Given the description of an element on the screen output the (x, y) to click on. 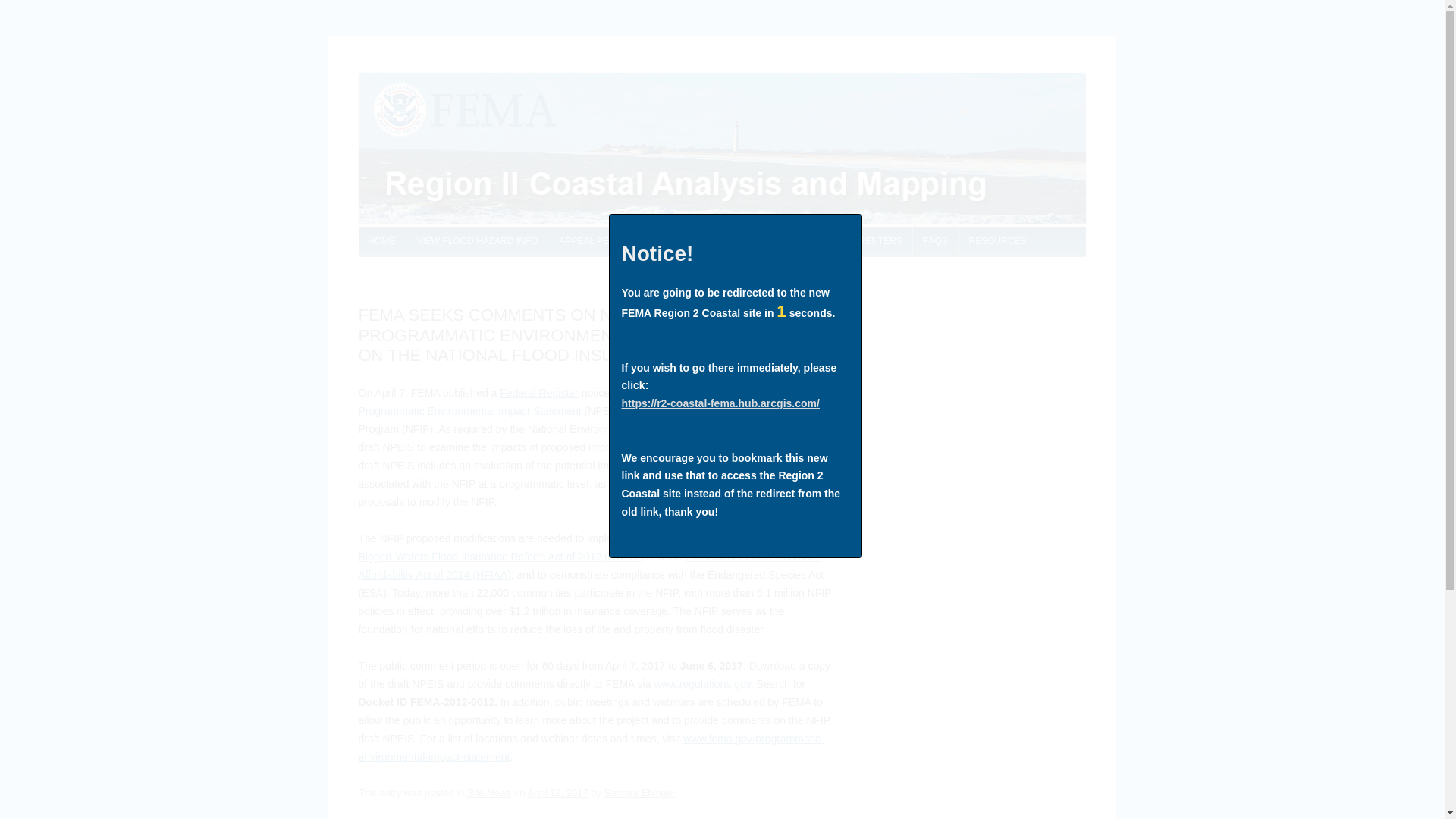
Skip to content (757, 231)
HOME (381, 241)
VIEW FLOOD HAZARD INFO (476, 241)
CONTACTS (392, 272)
Skip to content (757, 231)
Nationwide Programmatic Environmental Impact Statement (592, 401)
RESOURCES (997, 241)
Federal Register (538, 392)
APPEAL PERIOD (595, 241)
COMMUNITY OFFICIALS (705, 241)
